Given the description of an element on the screen output the (x, y) to click on. 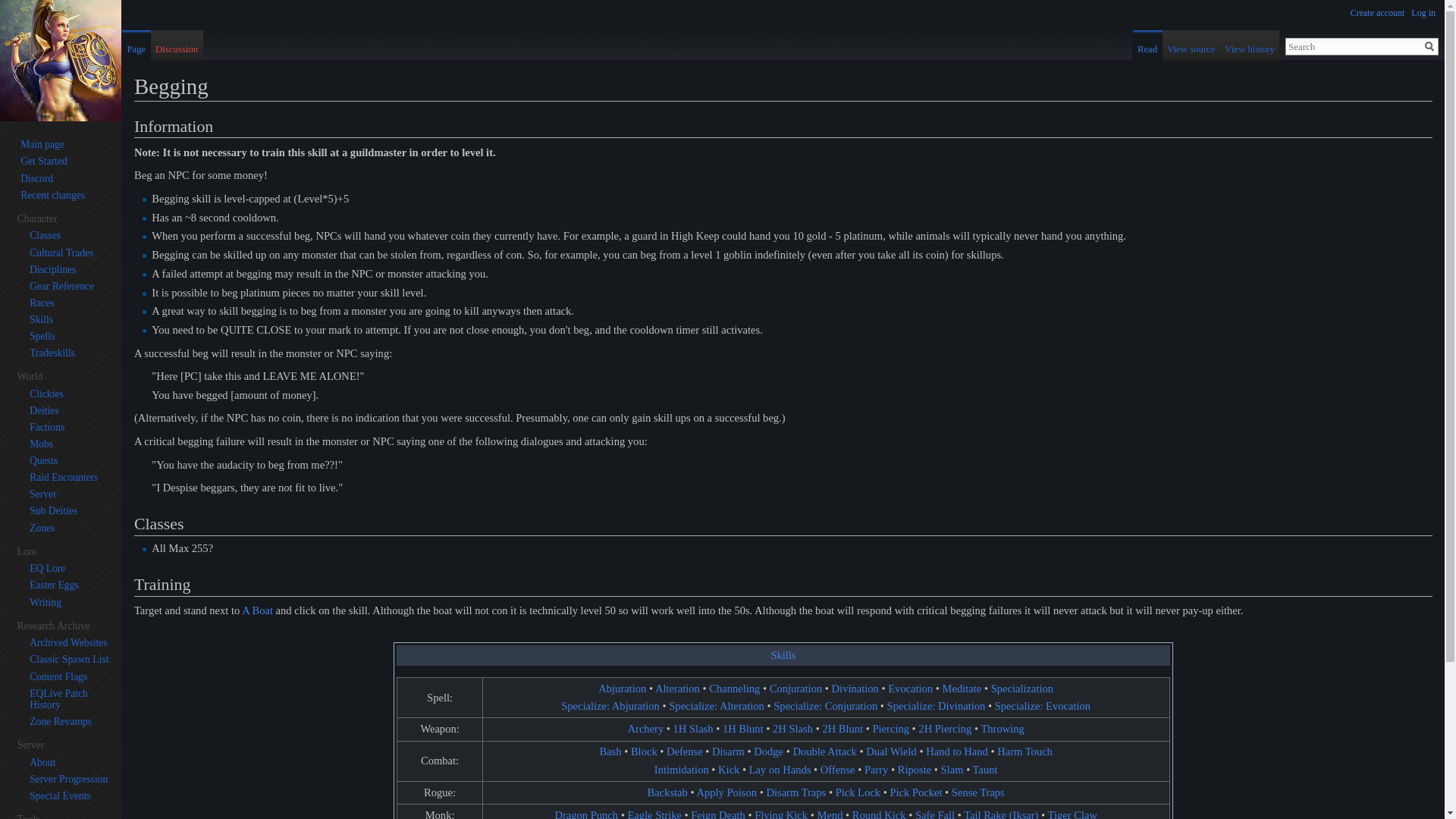
1H Slash (692, 728)
1H Slash (692, 728)
Specialization (1021, 688)
Evocation (910, 688)
Dodge (768, 751)
Piercing (890, 728)
1H Blunt (742, 728)
Specialization (1021, 688)
2H Blunt (842, 728)
Throwing (1001, 728)
